Given the description of an element on the screen output the (x, y) to click on. 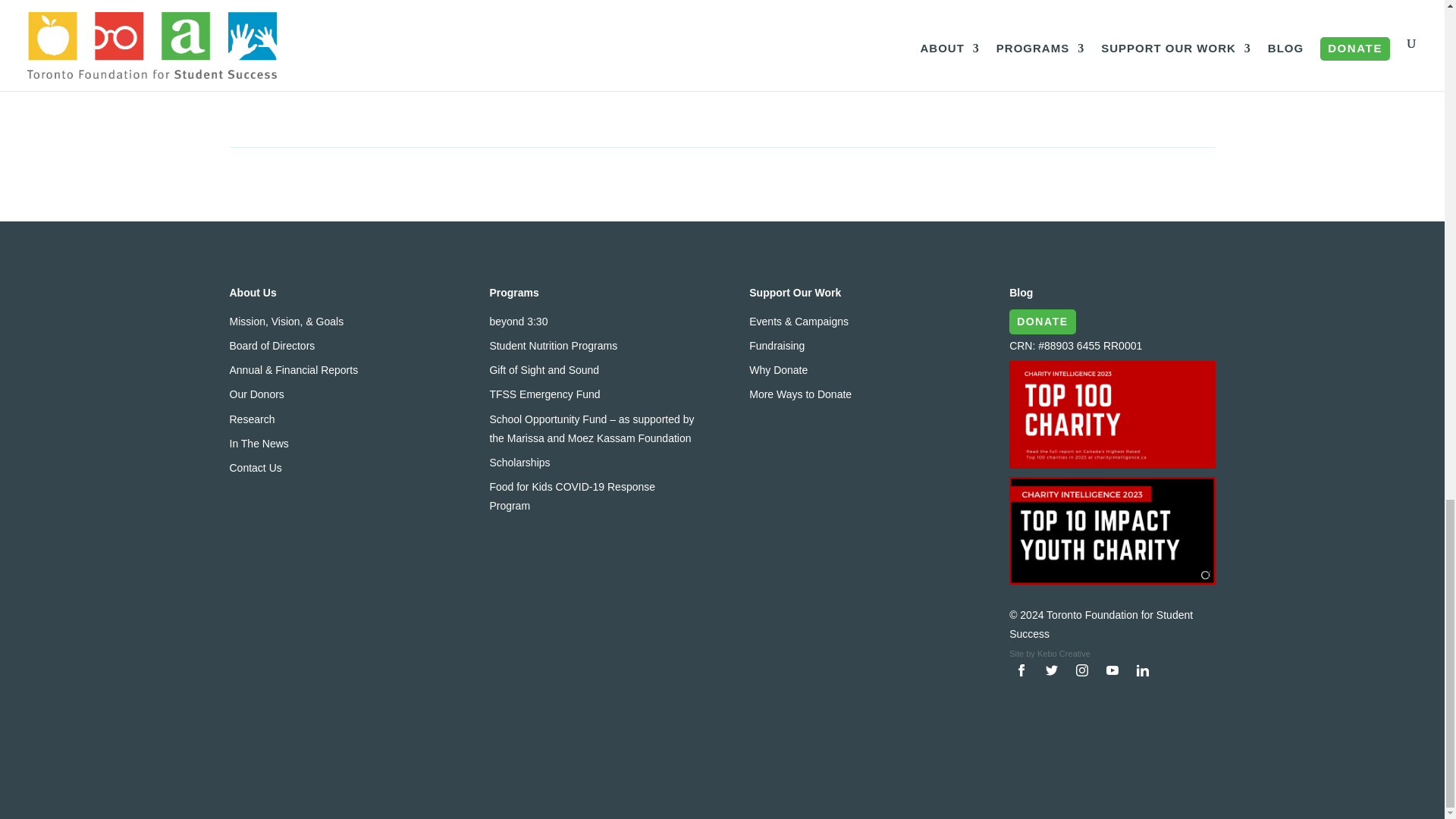
Facebook (1021, 675)
Instagram (1082, 675)
Twitter (1051, 675)
LinkedIn (1142, 675)
Youtube (1112, 675)
